Given the description of an element on the screen output the (x, y) to click on. 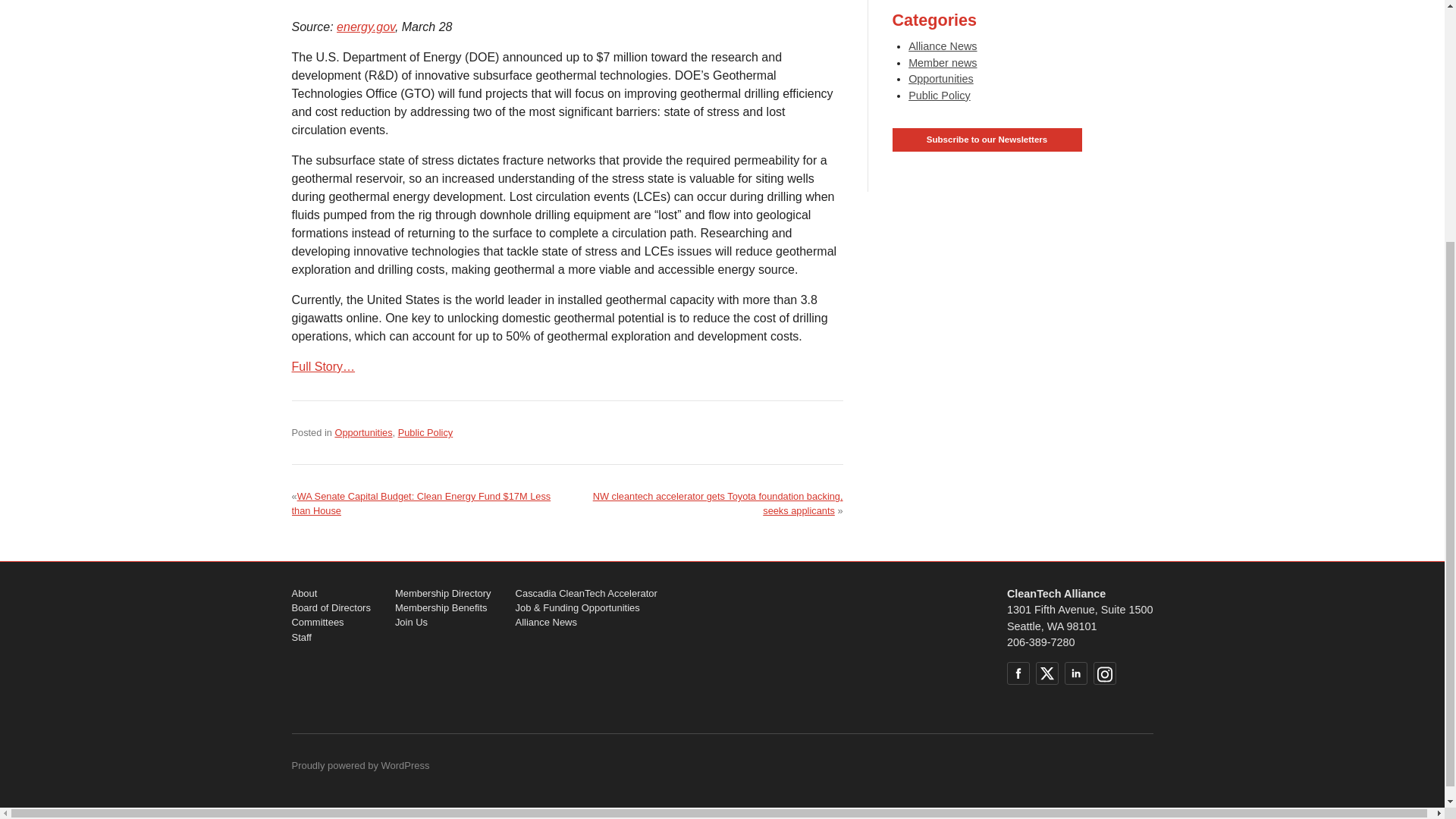
Vist CleanTech Alliance on LinkedIn (1075, 672)
Visit CleanTech Alliance on Twitter (1046, 672)
Vist CleanTech Alliance on Instagram (1104, 672)
Visit CleanTech Alliance on Facebook (1018, 672)
